Given the description of an element on the screen output the (x, y) to click on. 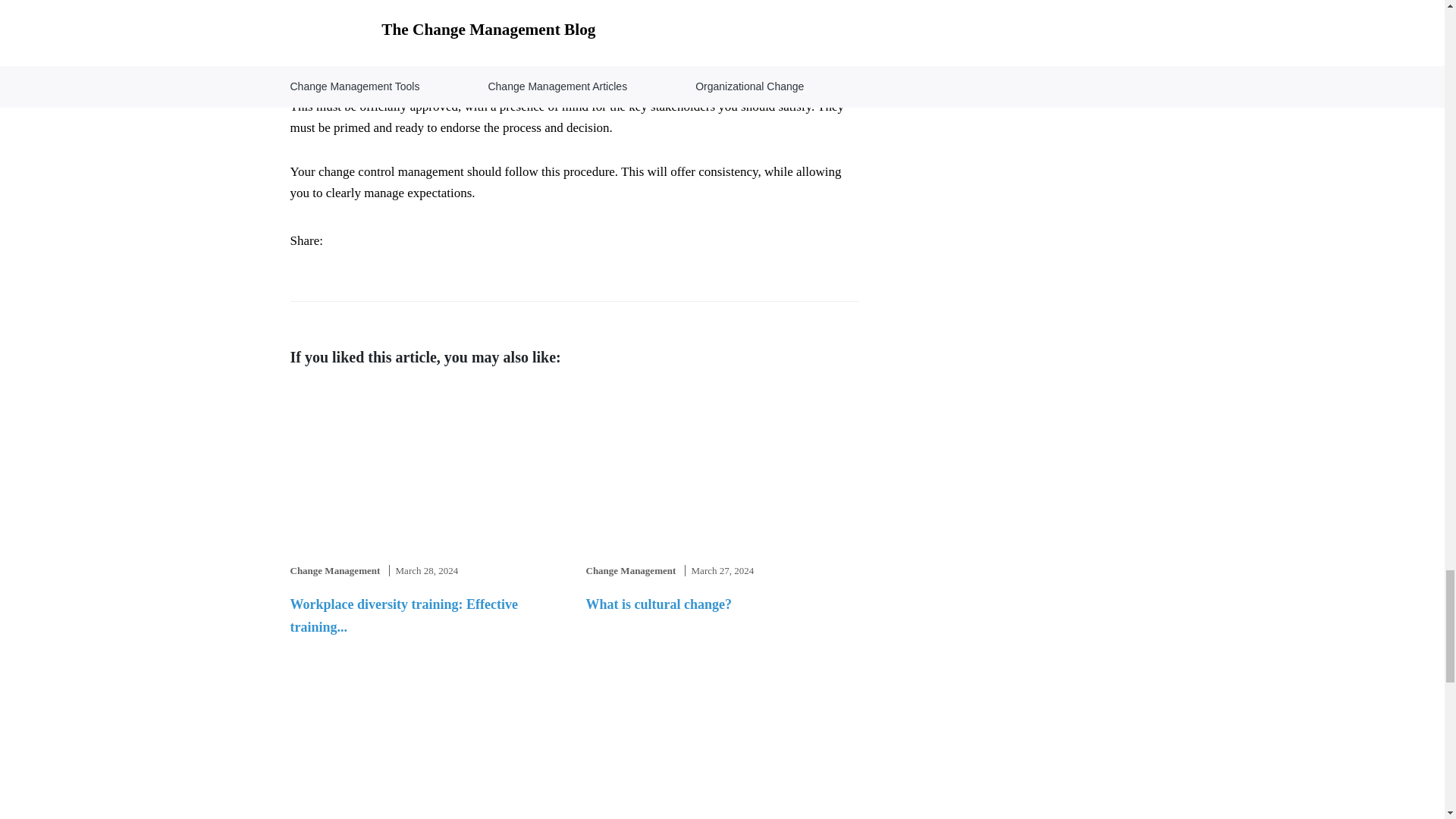
Workplace diversity training: Effective training... (402, 615)
What is cultural change? (658, 604)
Change Management (630, 570)
What is cultural change? (658, 604)
Change Management (334, 570)
